Given the description of an element on the screen output the (x, y) to click on. 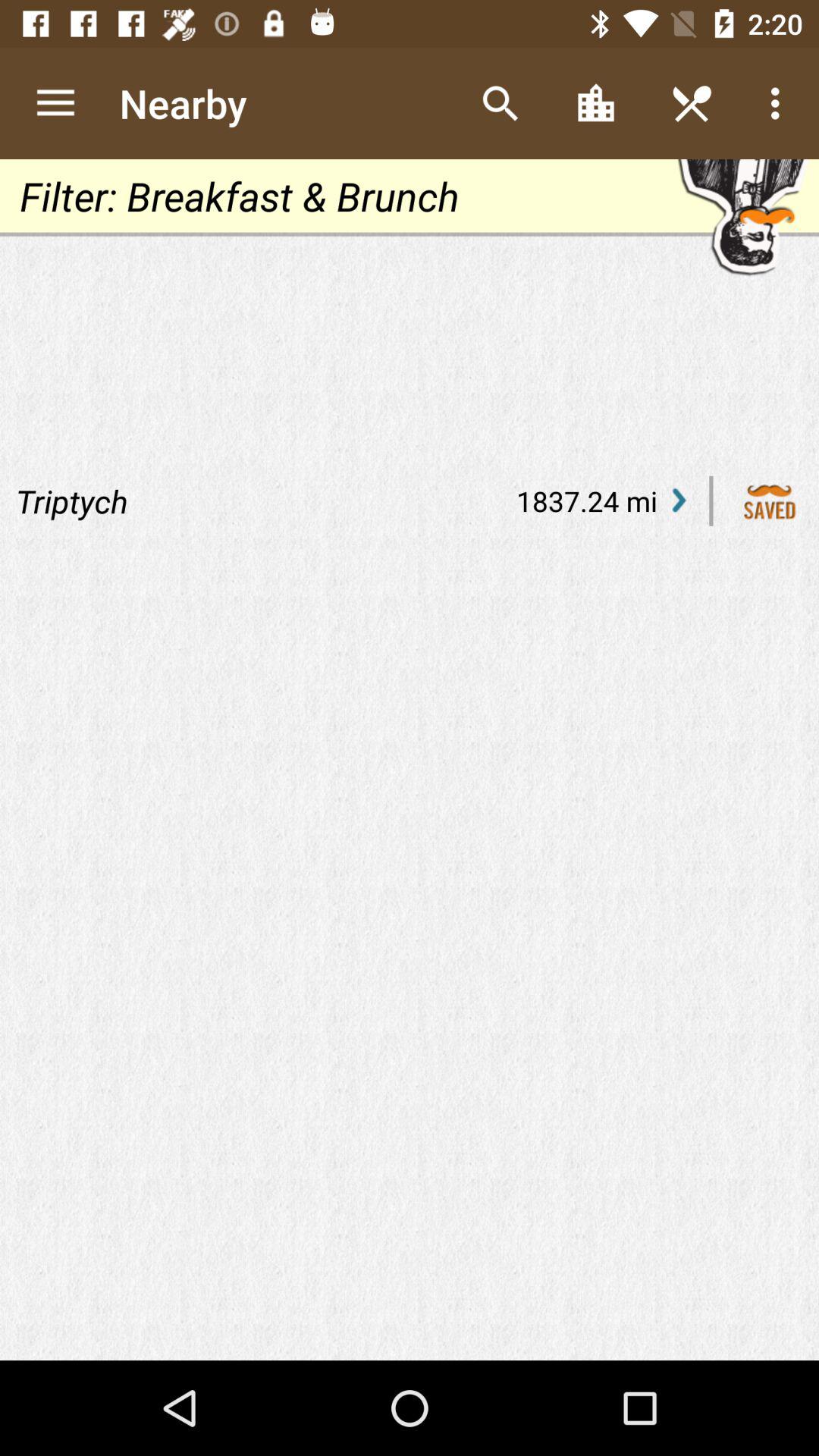
click the icon adjacent to more icon at top (691, 103)
click on the icon next to the text 183724 mi (678, 500)
